Given the description of an element on the screen output the (x, y) to click on. 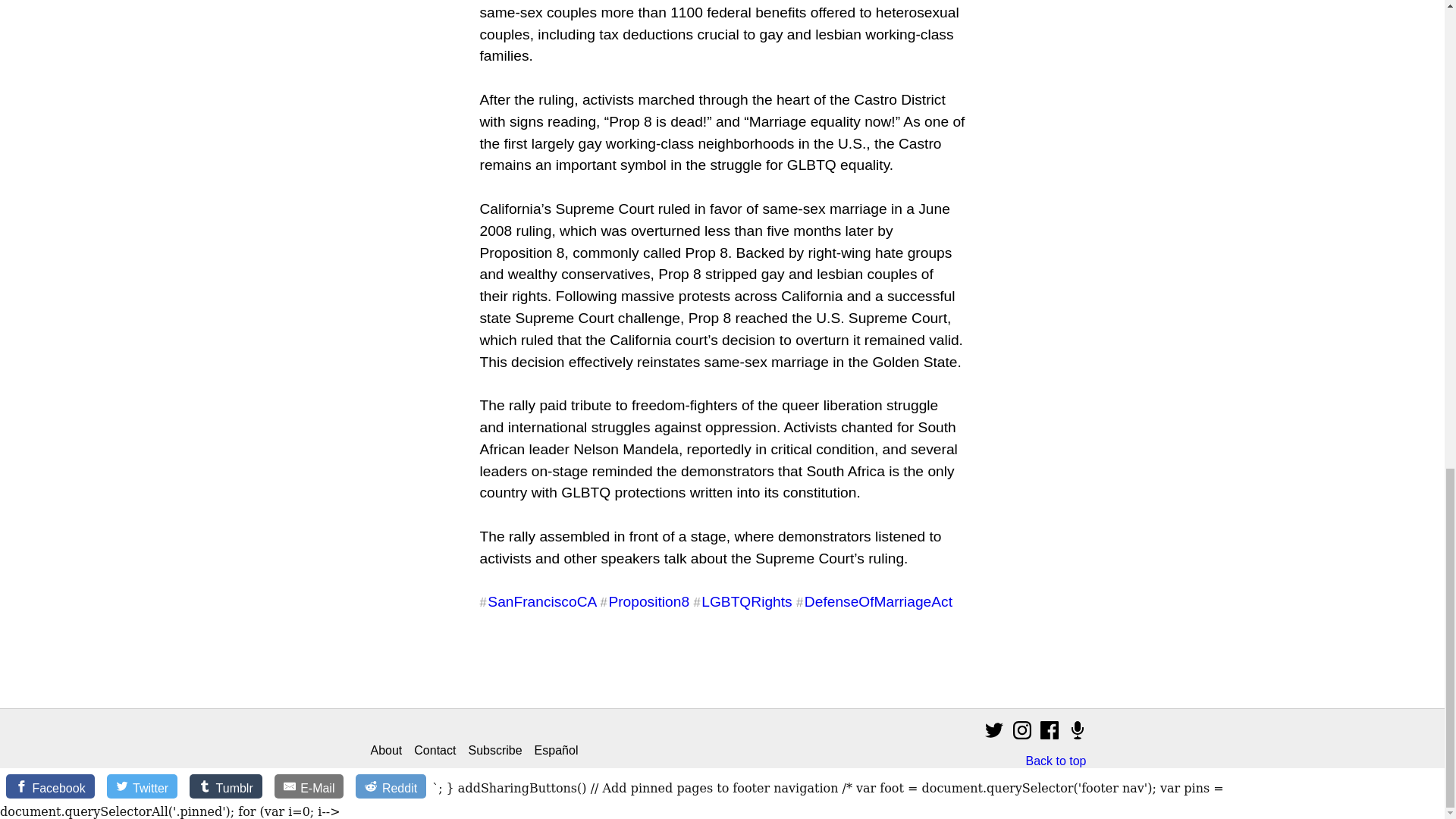
Contact (434, 750)
About (385, 750)
Subscribe (494, 750)
